Given the description of an element on the screen output the (x, y) to click on. 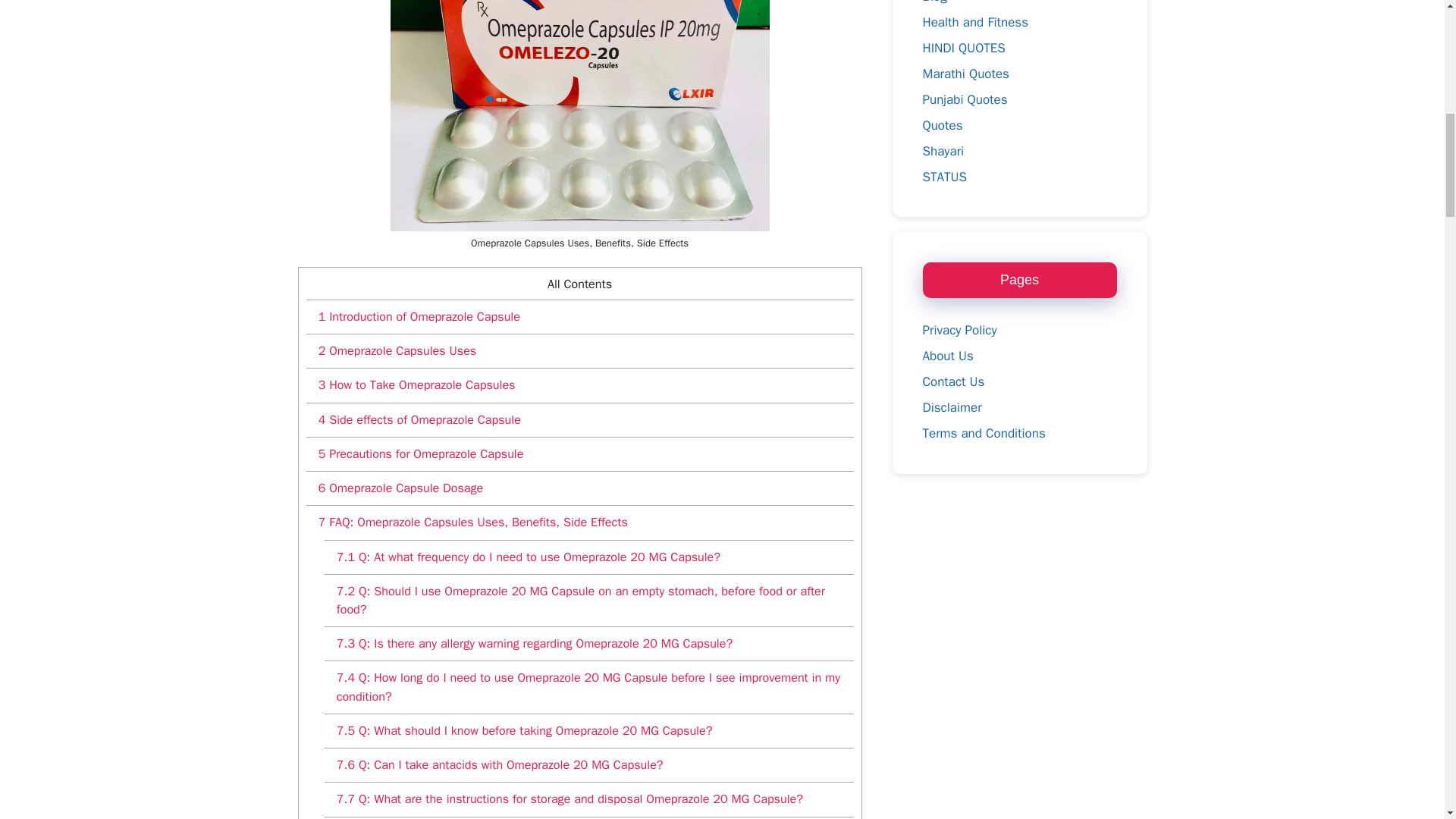
7 FAQ: Omeprazole Capsules Uses, Benefits, Side Effects (579, 521)
2 Omeprazole Capsules Uses (579, 350)
7.6 Q: Can I take antacids with Omeprazole 20 MG Capsule? (588, 764)
5 Precautions for Omeprazole Capsule (579, 453)
3 How to Take Omeprazole Capsules (579, 384)
6 Omeprazole Capsule Dosage (579, 487)
4 Side effects of Omeprazole Capsule (579, 419)
1 Introduction of Omeprazole Capsule (579, 316)
